Given the description of an element on the screen output the (x, y) to click on. 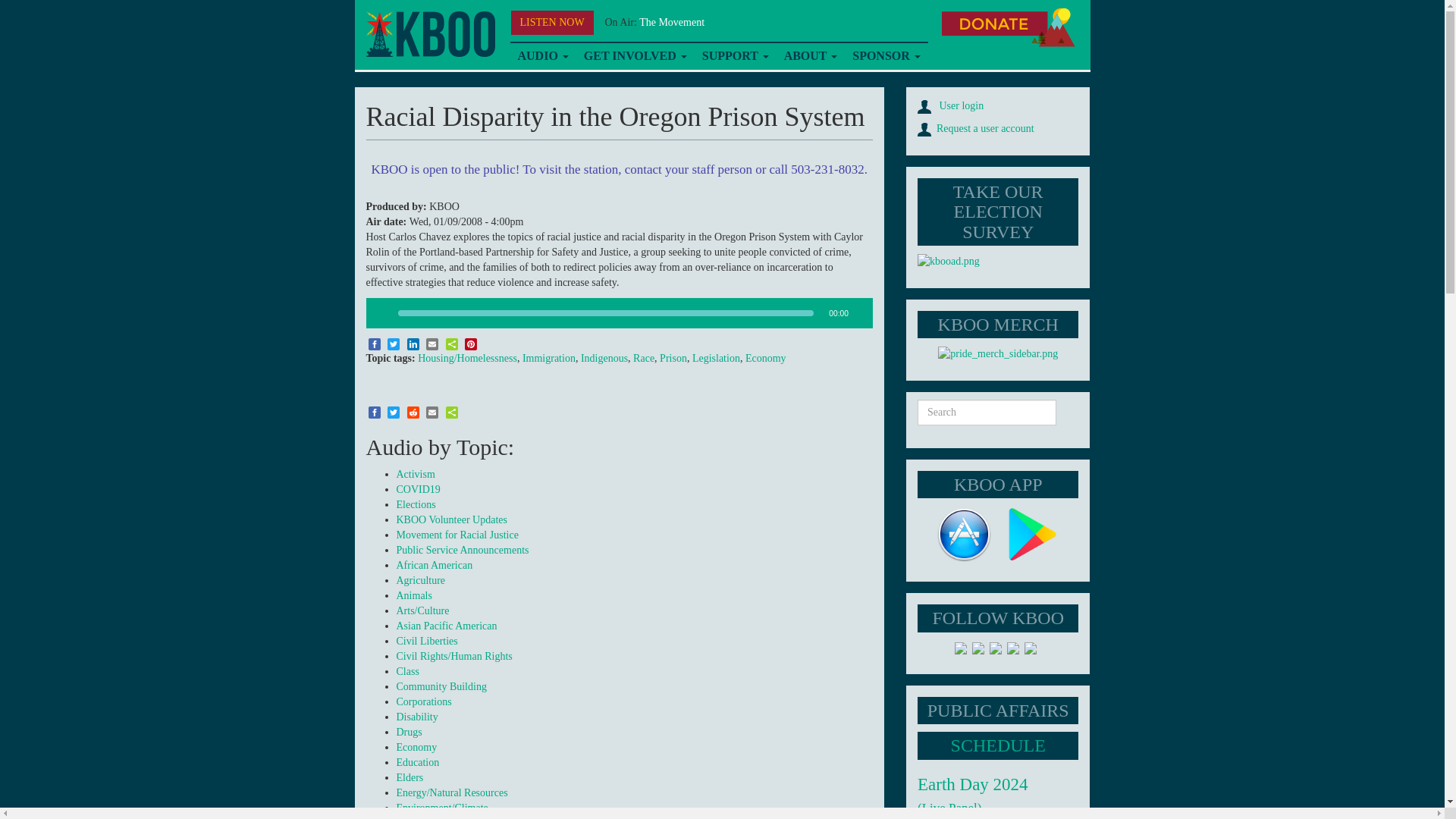
GET INVOLVED (635, 55)
LISTEN NOW (551, 22)
SUPPORT (735, 55)
The Movement (671, 21)
AUDIO (542, 55)
ABOUT (810, 55)
Home (430, 34)
